Given the description of an element on the screen output the (x, y) to click on. 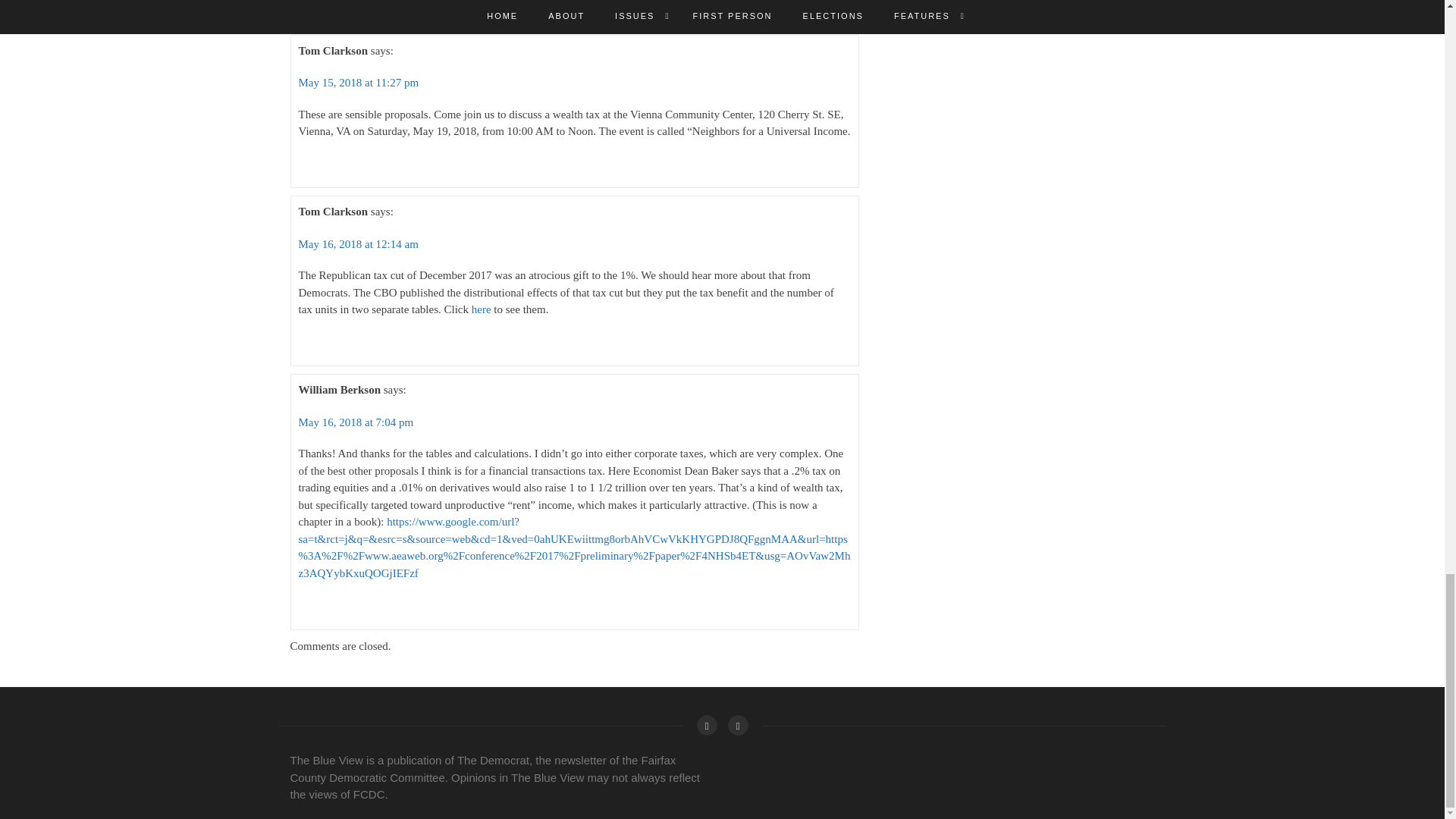
May 16, 2018 at 7:04 pm (355, 422)
here (481, 309)
May 15, 2018 at 11:27 pm (358, 82)
May 16, 2018 at 12:14 am (358, 244)
